Given the description of an element on the screen output the (x, y) to click on. 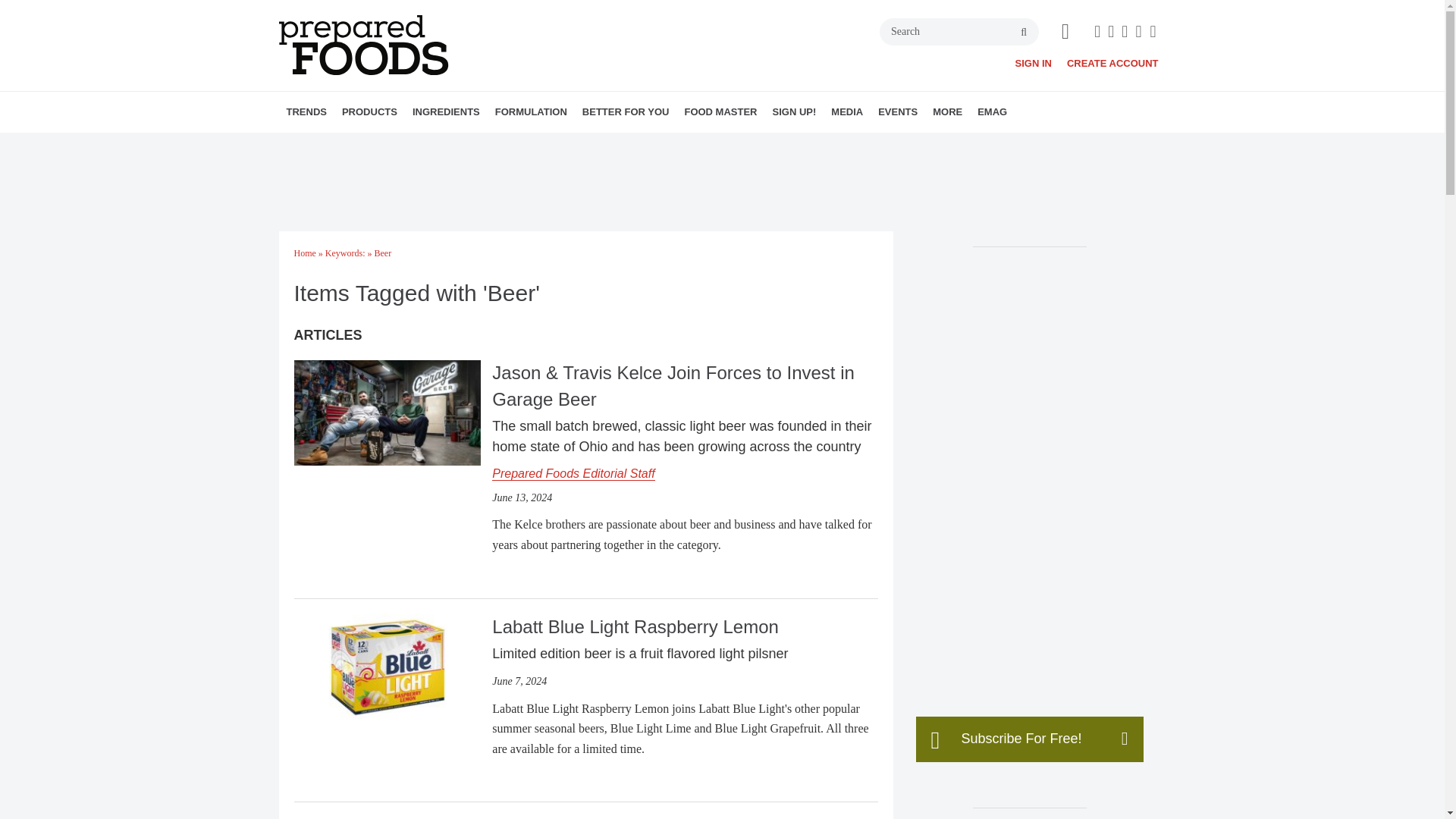
SIGN IN (1032, 62)
search (1023, 32)
Search (959, 31)
TRENDS (306, 111)
Kelce brothers with Garage Beer (387, 413)
PRODUCTS (369, 111)
Labatt Blue Light Raspberry Lemon (387, 665)
2024 TRENDS (373, 145)
FEATURED PRODUCTS (474, 145)
SOUPS (472, 145)
CANNABIS (452, 145)
BEVERAGES (436, 145)
CREATE ACCOUNT (1112, 62)
2023 TRENDS (380, 145)
